Given the description of an element on the screen output the (x, y) to click on. 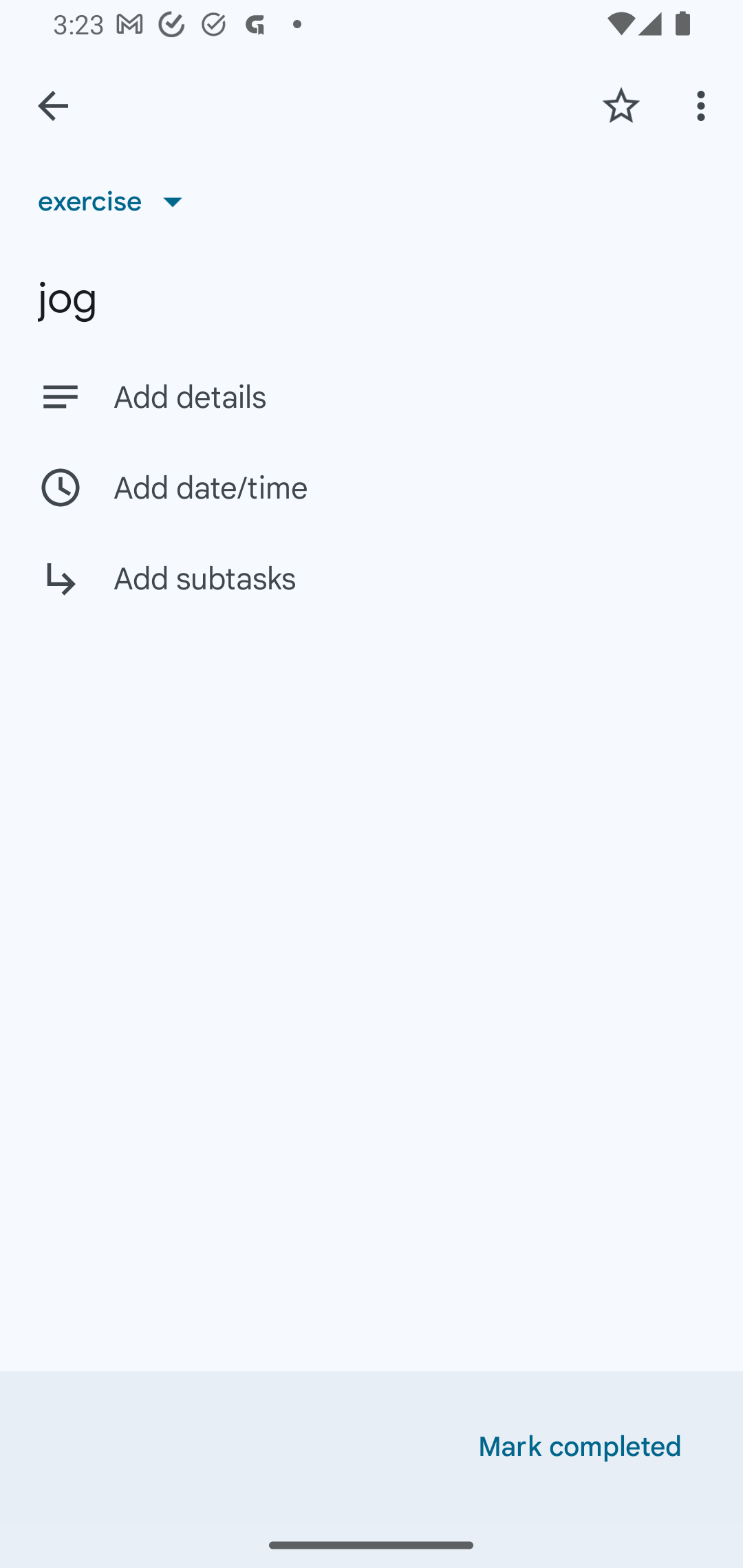
Back (53, 105)
Add star (620, 105)
More options (704, 105)
exercise List, exercise selected, 1 of 18 (116, 201)
jog (371, 298)
Add details (371, 396)
Add details (409, 397)
Add date/time (371, 487)
Add subtasks (371, 593)
Mark completed (580, 1446)
